Given the description of an element on the screen output the (x, y) to click on. 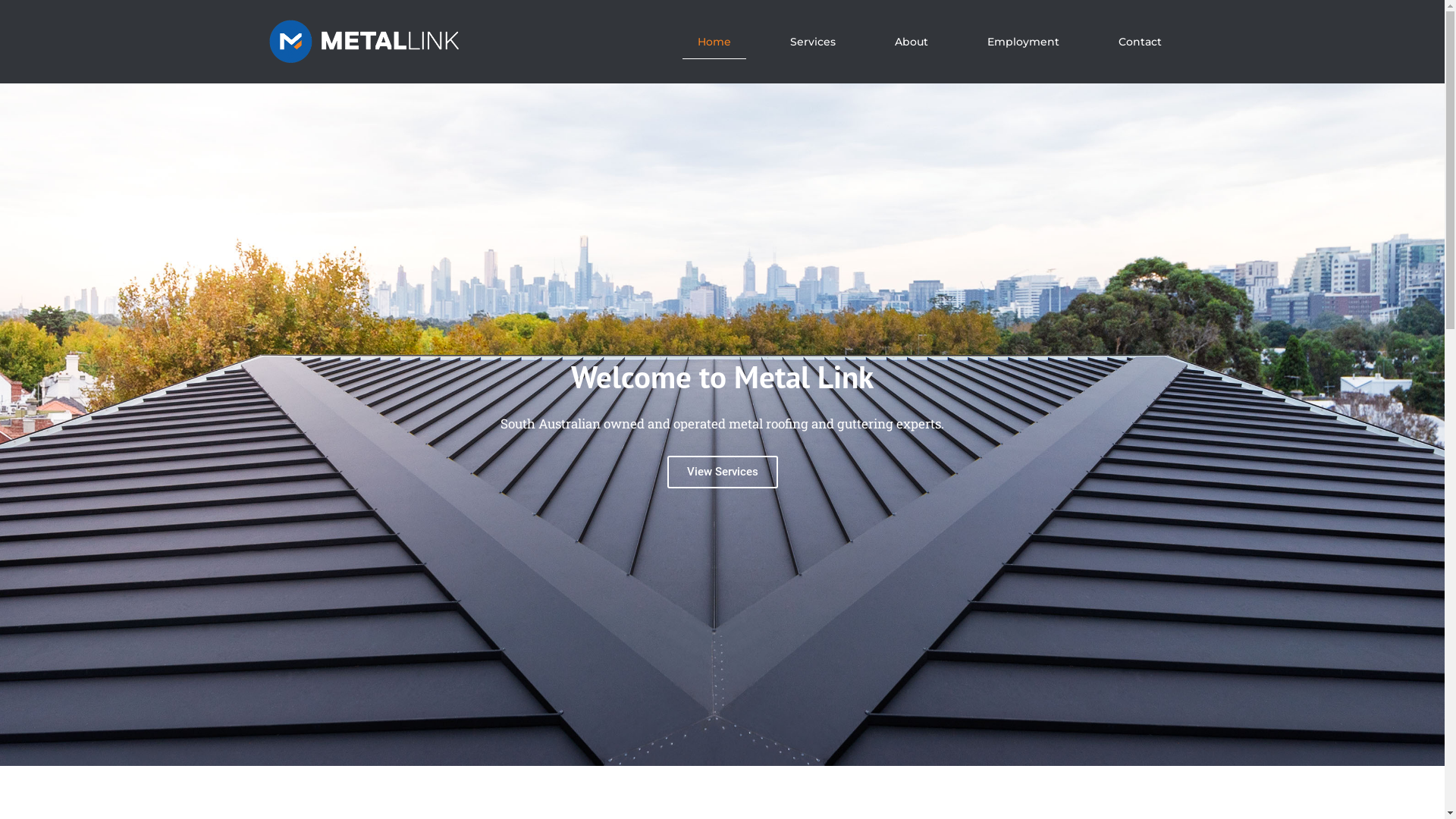
Services Element type: text (812, 41)
About Element type: text (911, 41)
Employment Element type: text (1023, 41)
Contact Element type: text (1139, 41)
Home Element type: text (714, 41)
